Given the description of an element on the screen output the (x, y) to click on. 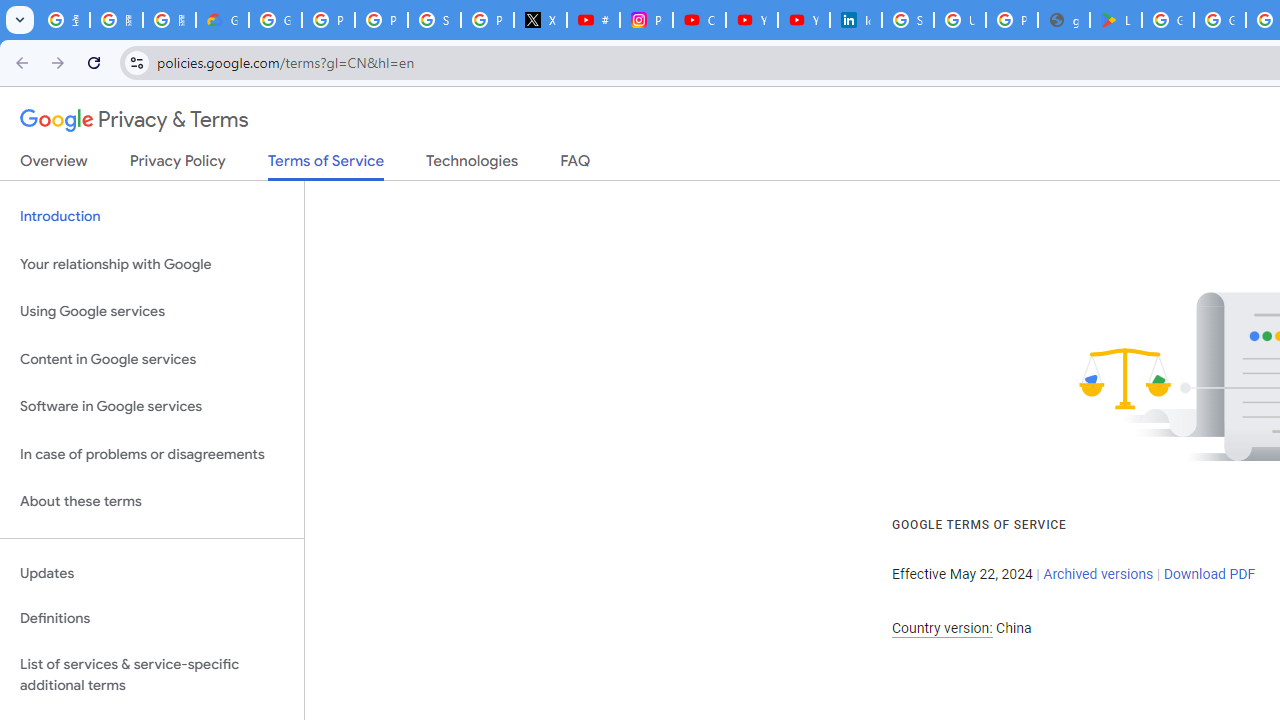
Privacy Help Center - Policies Help (381, 20)
Download PDF (1209, 574)
X (540, 20)
YouTube Culture & Trends - YouTube Top 10, 2021 (803, 20)
List of services & service-specific additional terms (152, 674)
